Given the description of an element on the screen output the (x, y) to click on. 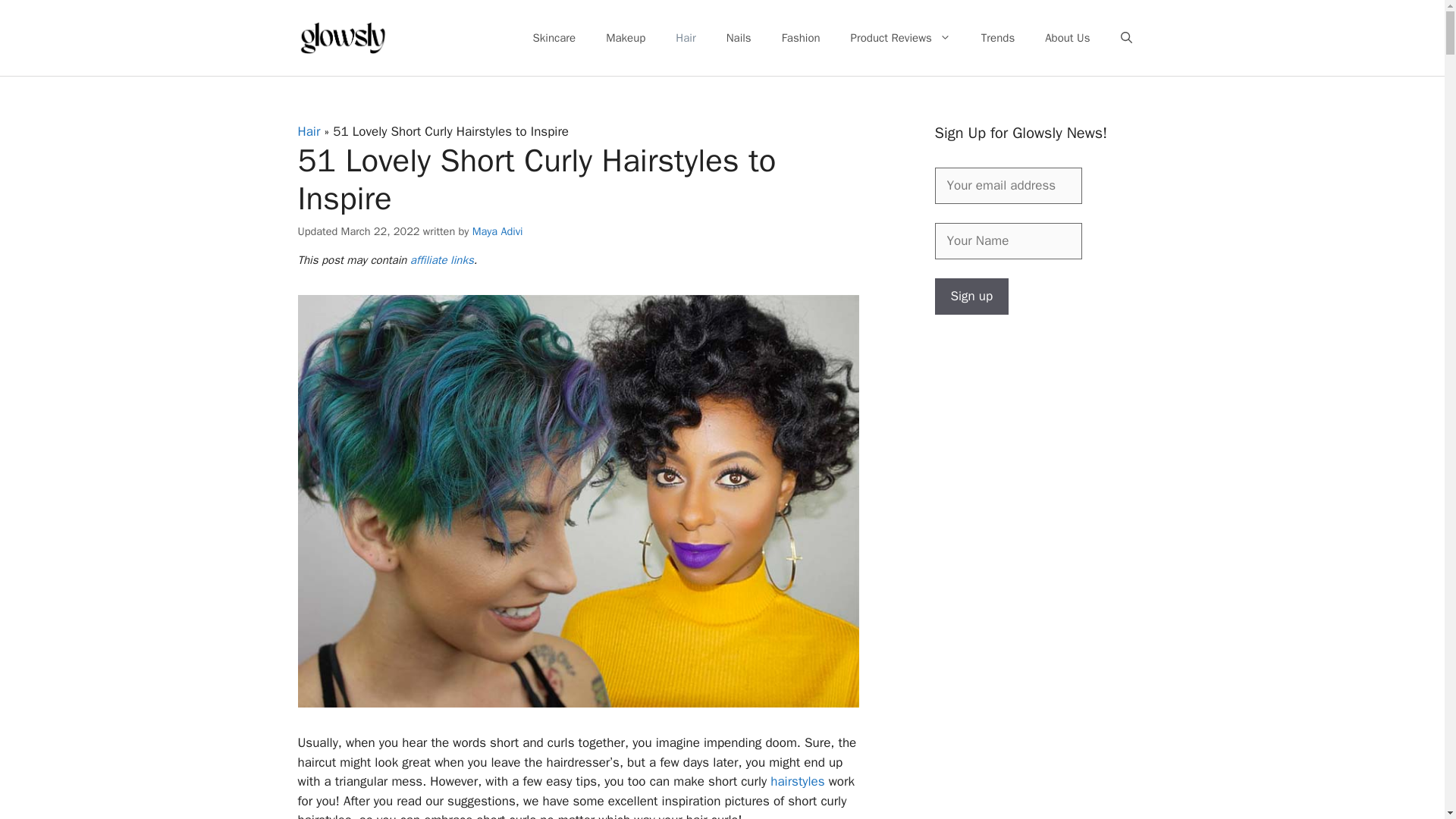
Maya Adivi (496, 231)
Hair (685, 37)
About Us (1067, 37)
Skincare (554, 37)
Sign up (971, 296)
affiliate links (442, 259)
Fashion (801, 37)
Hair (308, 131)
Glowsly (342, 36)
Glowsly (342, 37)
